Given the description of an element on the screen output the (x, y) to click on. 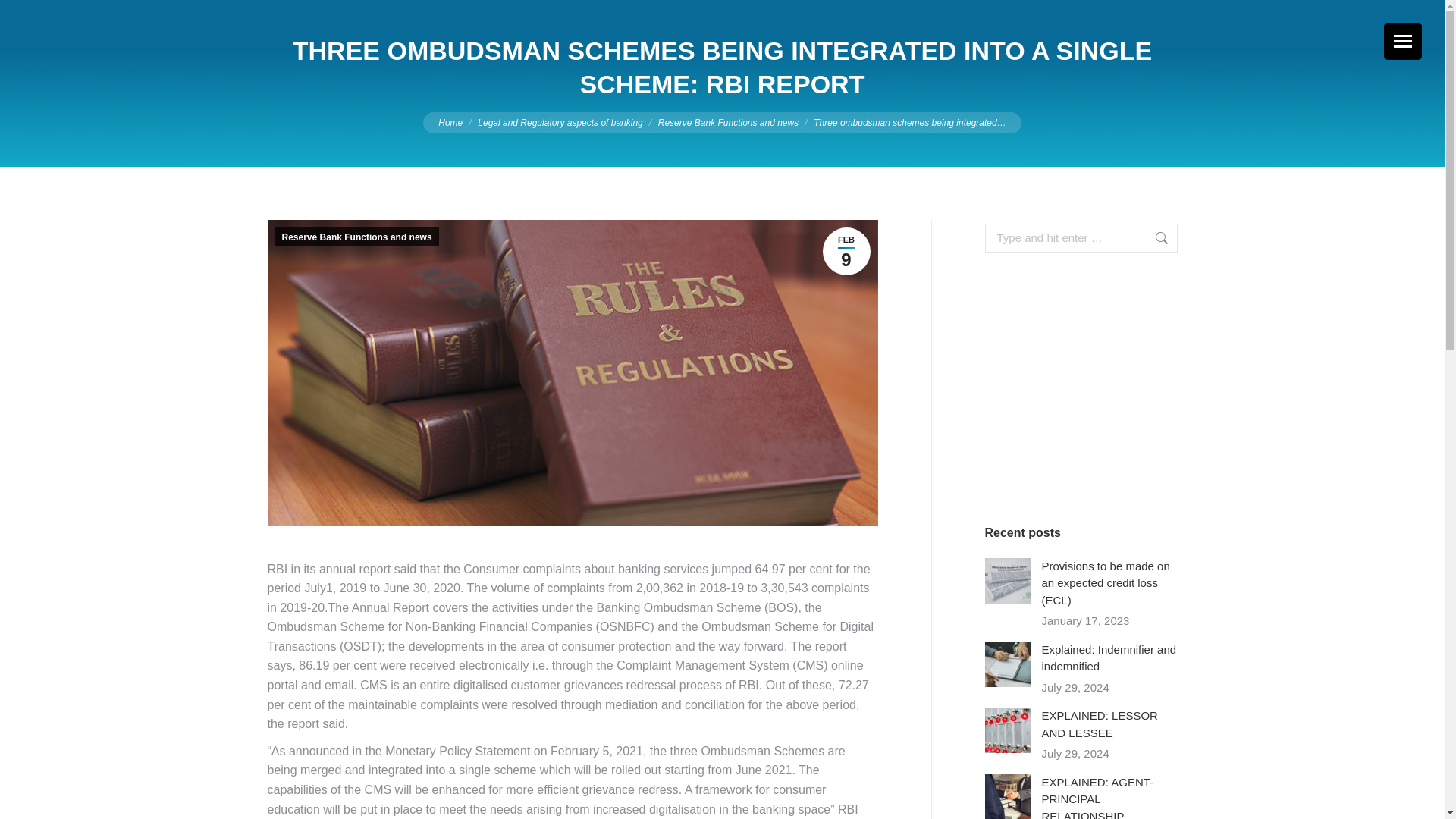
Legal and Regulatory aspects of banking (559, 122)
Go! (1146, 237)
Home (450, 122)
6:59 pm (845, 251)
Reserve Bank Functions and news (727, 122)
Go! (1146, 237)
